Given the description of an element on the screen output the (x, y) to click on. 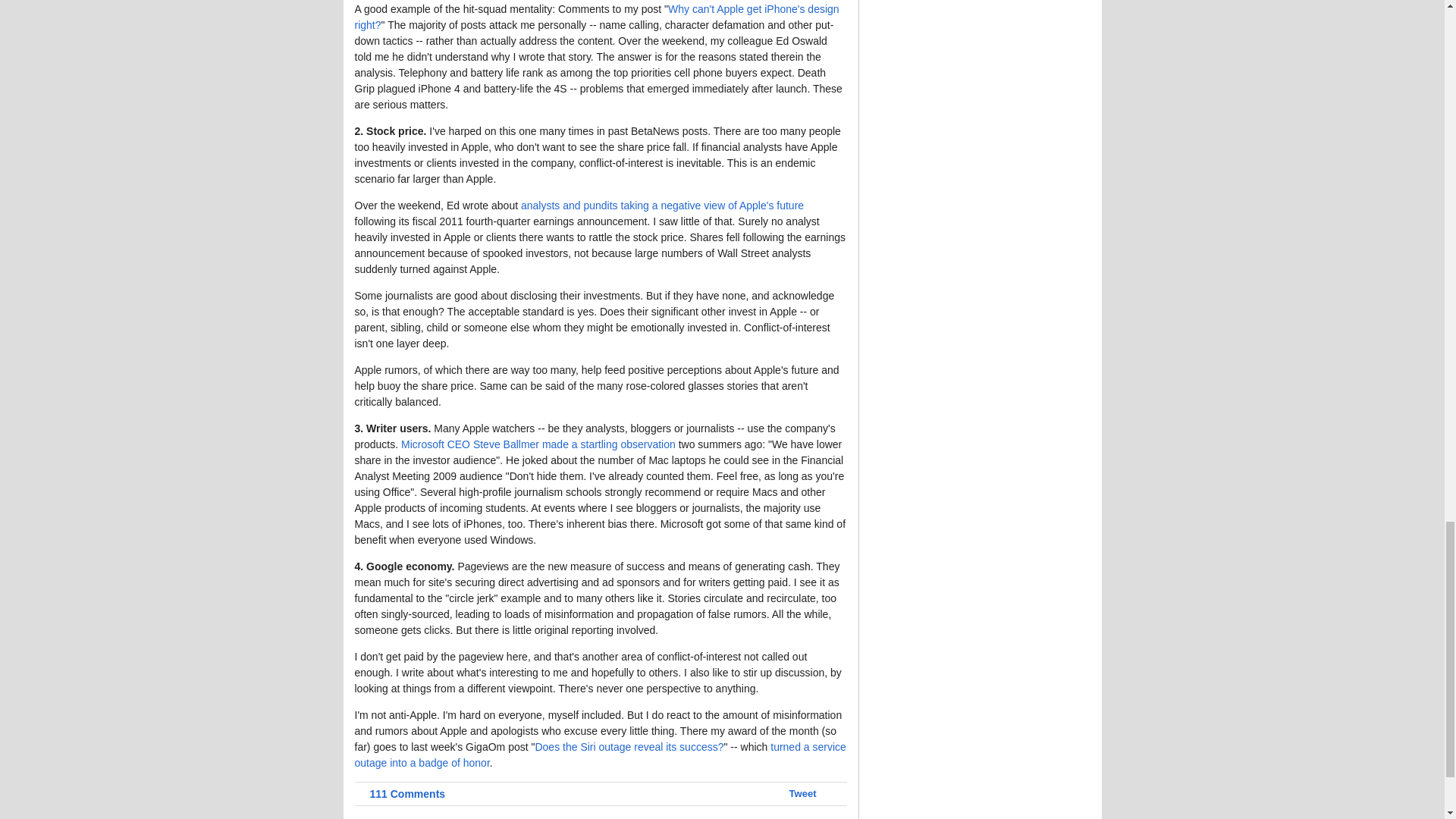
Microsoft CEO Steve Ballmer made a startling observation (538, 444)
Tweet (802, 793)
Does the Siri outage reveal its success? (628, 746)
turned a service outage into a badge of honor (600, 755)
Why can't Apple get iPhone's design right? (597, 17)
111 Comments (400, 793)
